Given the description of an element on the screen output the (x, y) to click on. 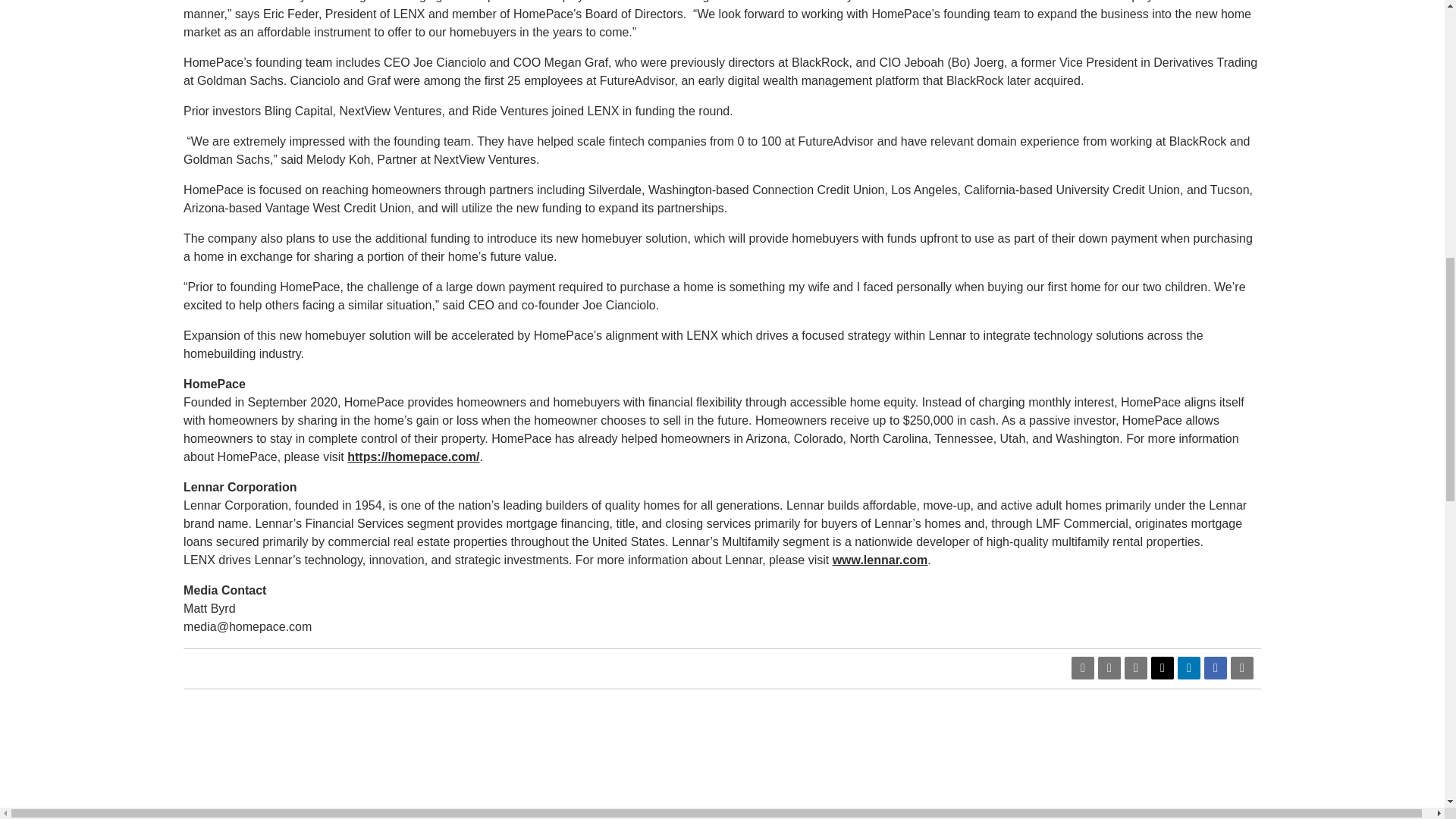
print (1241, 667)
Linkedin Share (1188, 667)
Twitter Share (1162, 667)
Facebook Share (1215, 667)
www.lennar.com (880, 559)
email (1135, 667)
Back to Top (1281, 814)
pdf (1082, 667)
rss (1109, 667)
